Given the description of an element on the screen output the (x, y) to click on. 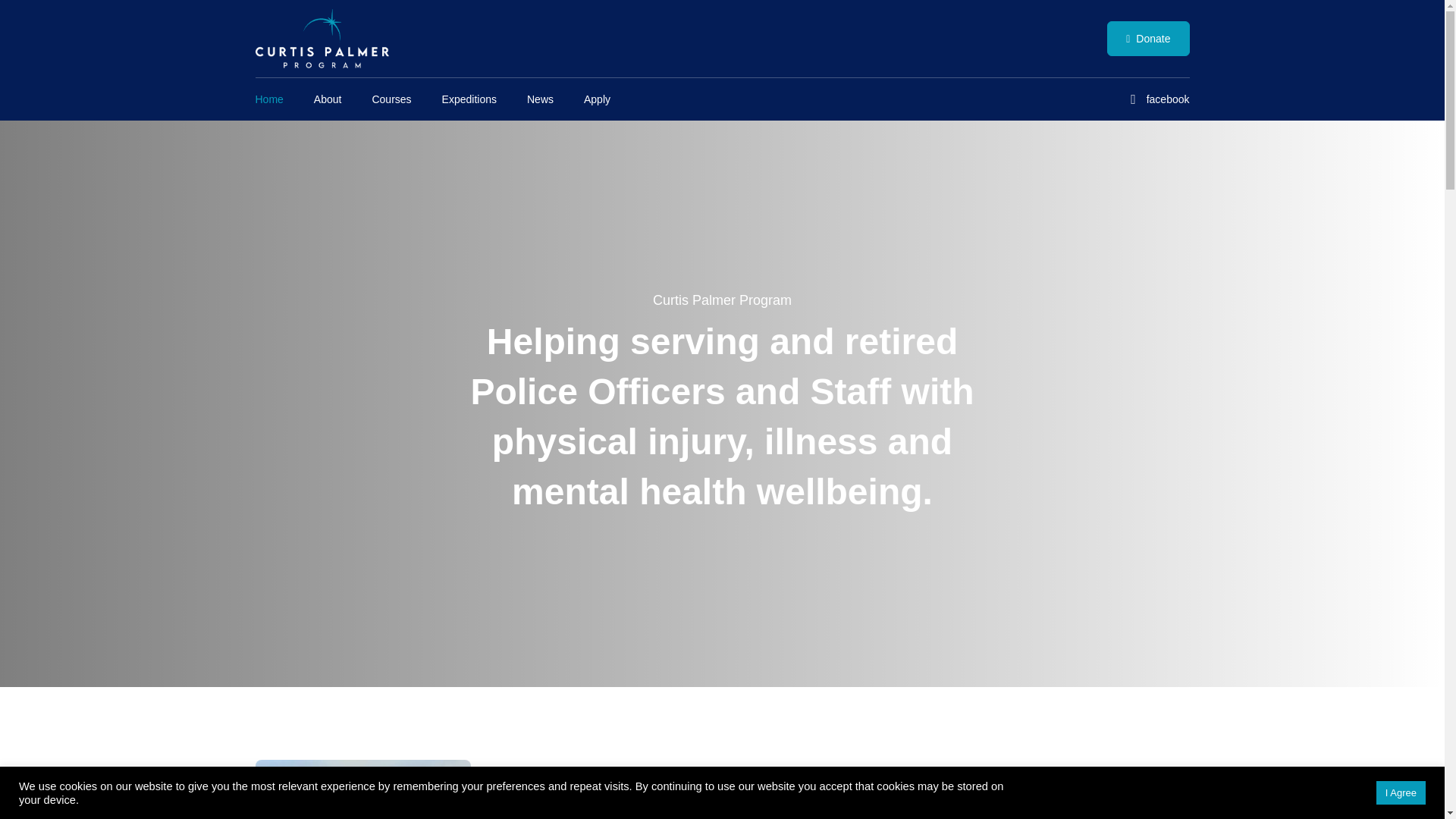
Courses (391, 99)
About (327, 99)
Apply (597, 99)
News (540, 99)
I Agree (1400, 792)
facebook (1156, 99)
Expeditions (469, 99)
Home (269, 99)
Donate (1147, 38)
